Given the description of an element on the screen output the (x, y) to click on. 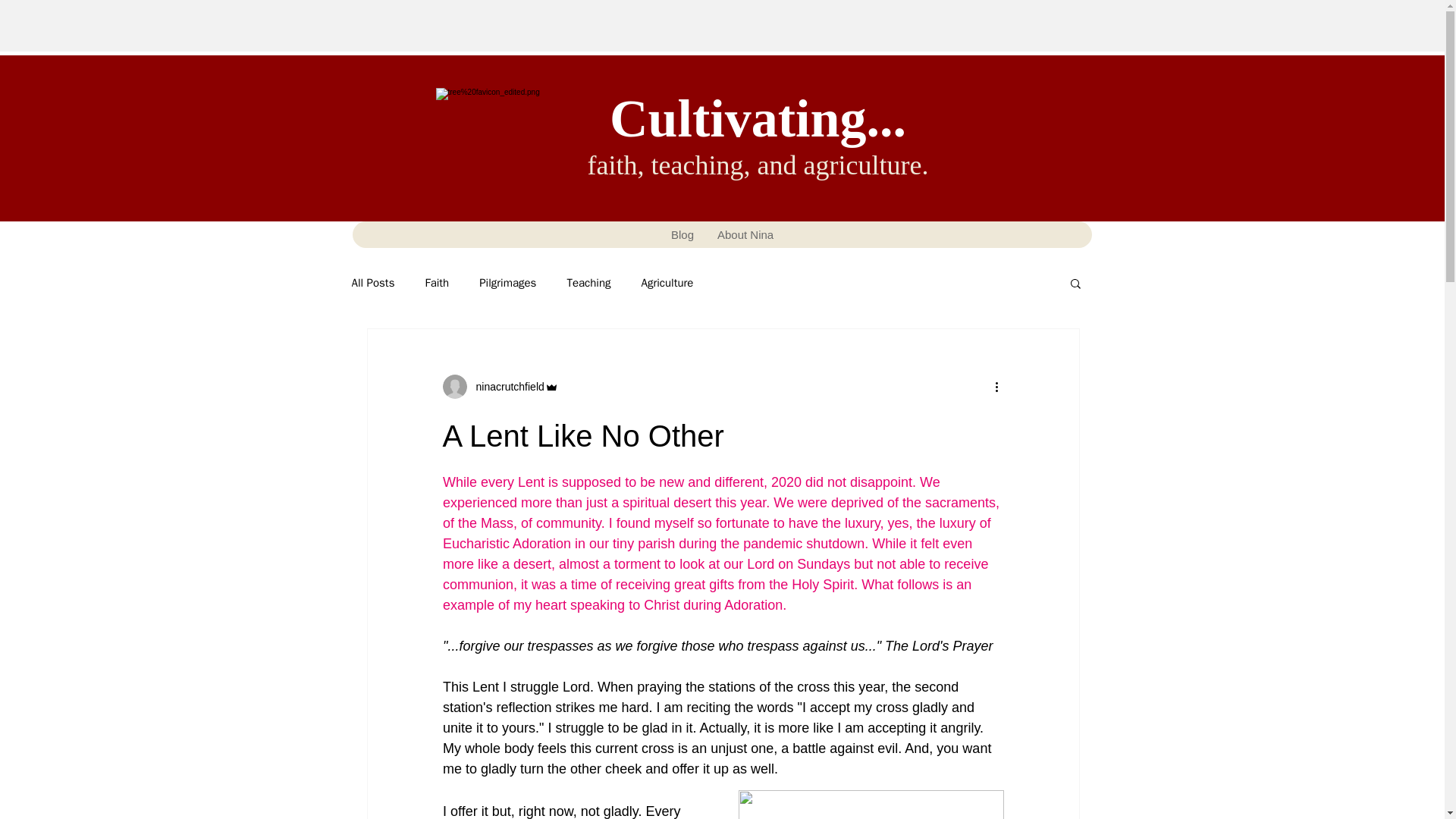
Teaching (588, 283)
All Posts (373, 283)
Faith (436, 283)
Pilgrimages (507, 283)
About Nina (744, 234)
Blog (681, 234)
Agriculture (668, 283)
ninacrutchfield (505, 386)
